Given the description of an element on the screen output the (x, y) to click on. 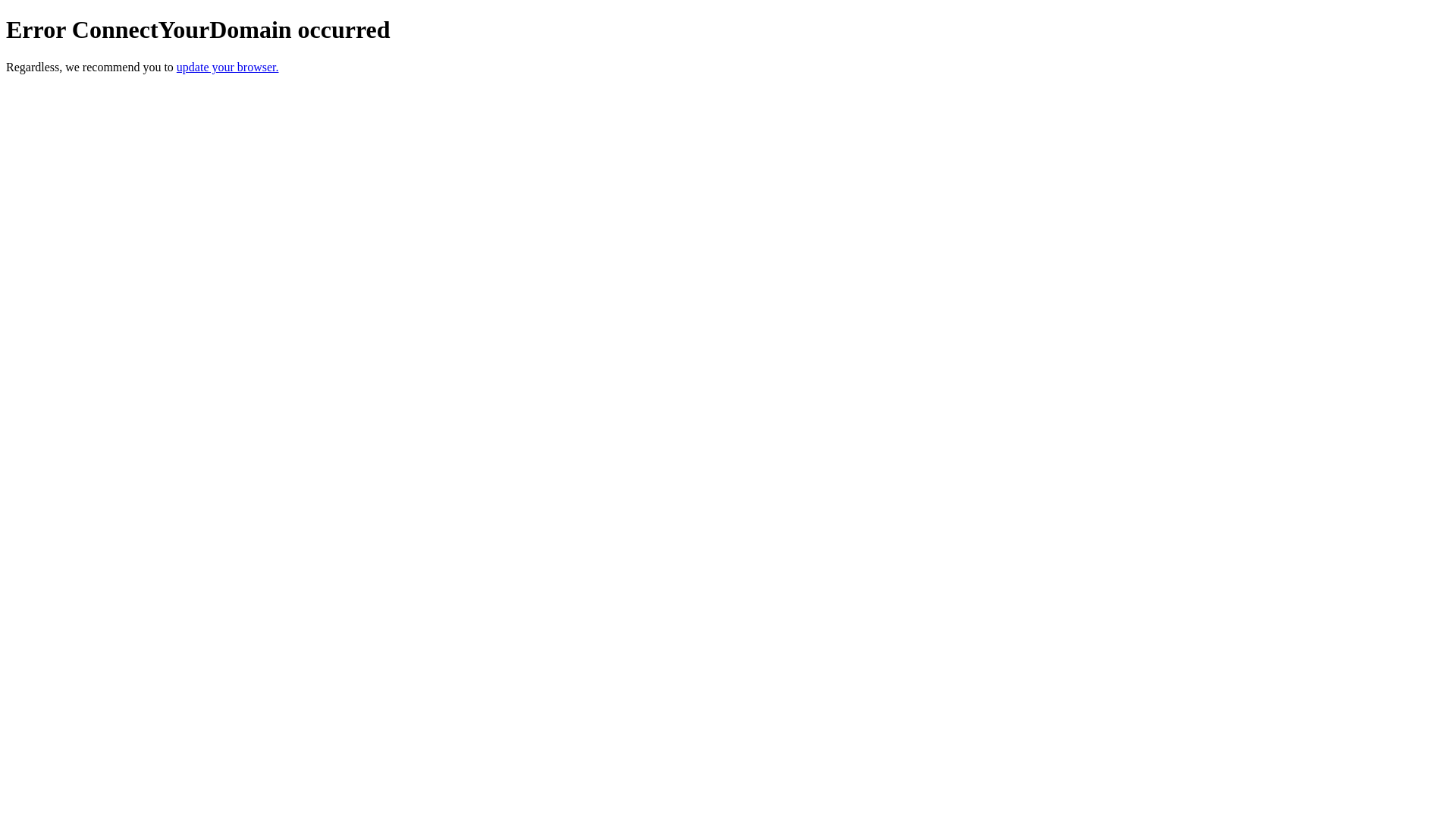
update your browser. Element type: text (227, 66)
